Given the description of an element on the screen output the (x, y) to click on. 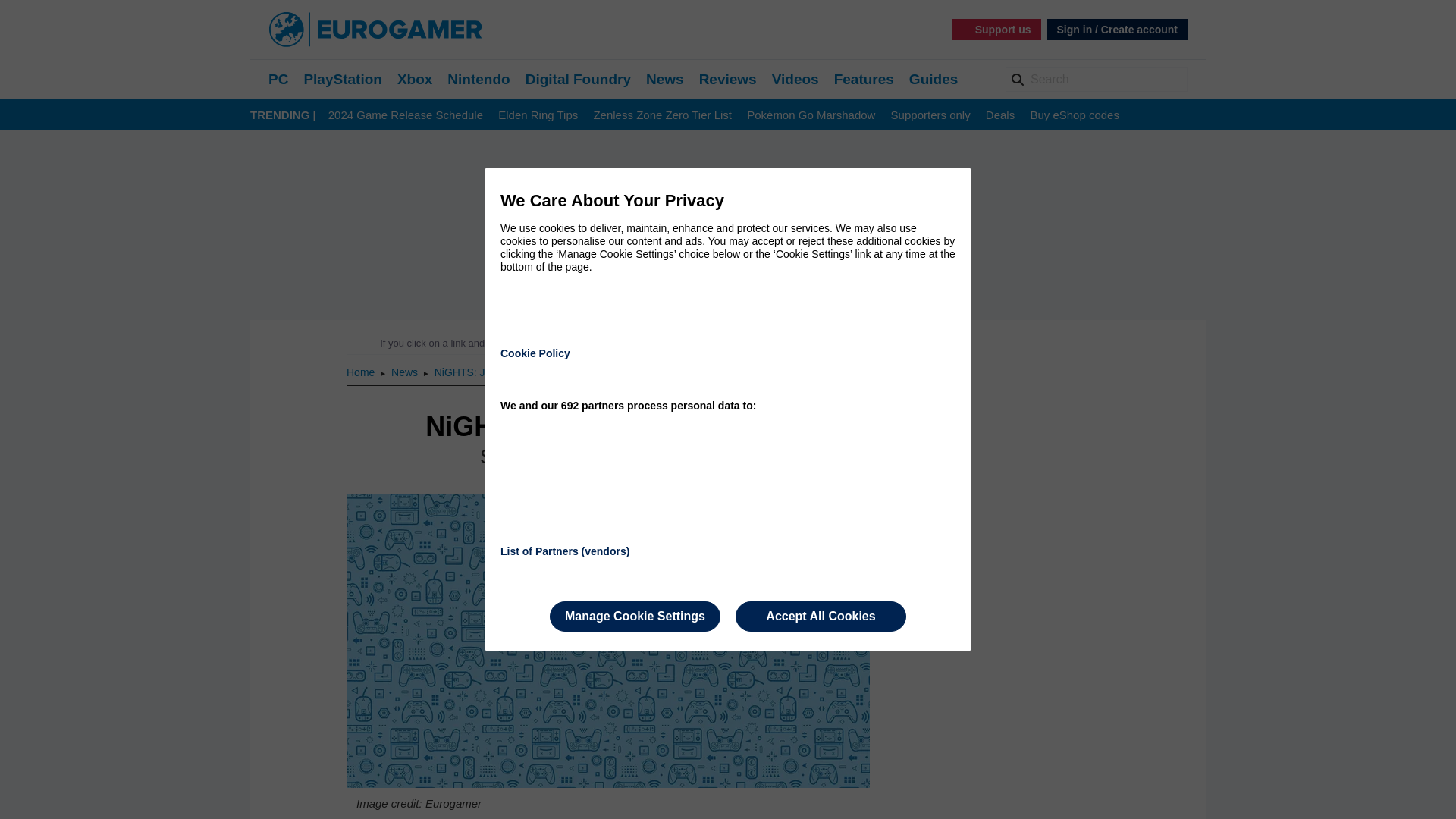
PlayStation (341, 78)
Reviews (727, 78)
Supporters only (931, 114)
Deals (999, 114)
2024 Game Release Schedule (406, 114)
News (405, 372)
Buy eShop codes (1074, 114)
Reviews (727, 78)
News (405, 372)
Supporters only (931, 114)
Xbox (414, 78)
News (665, 78)
Digital Foundry (577, 78)
Support us (996, 29)
NiGHTS: Journey of Dreams (501, 372)
